Given the description of an element on the screen output the (x, y) to click on. 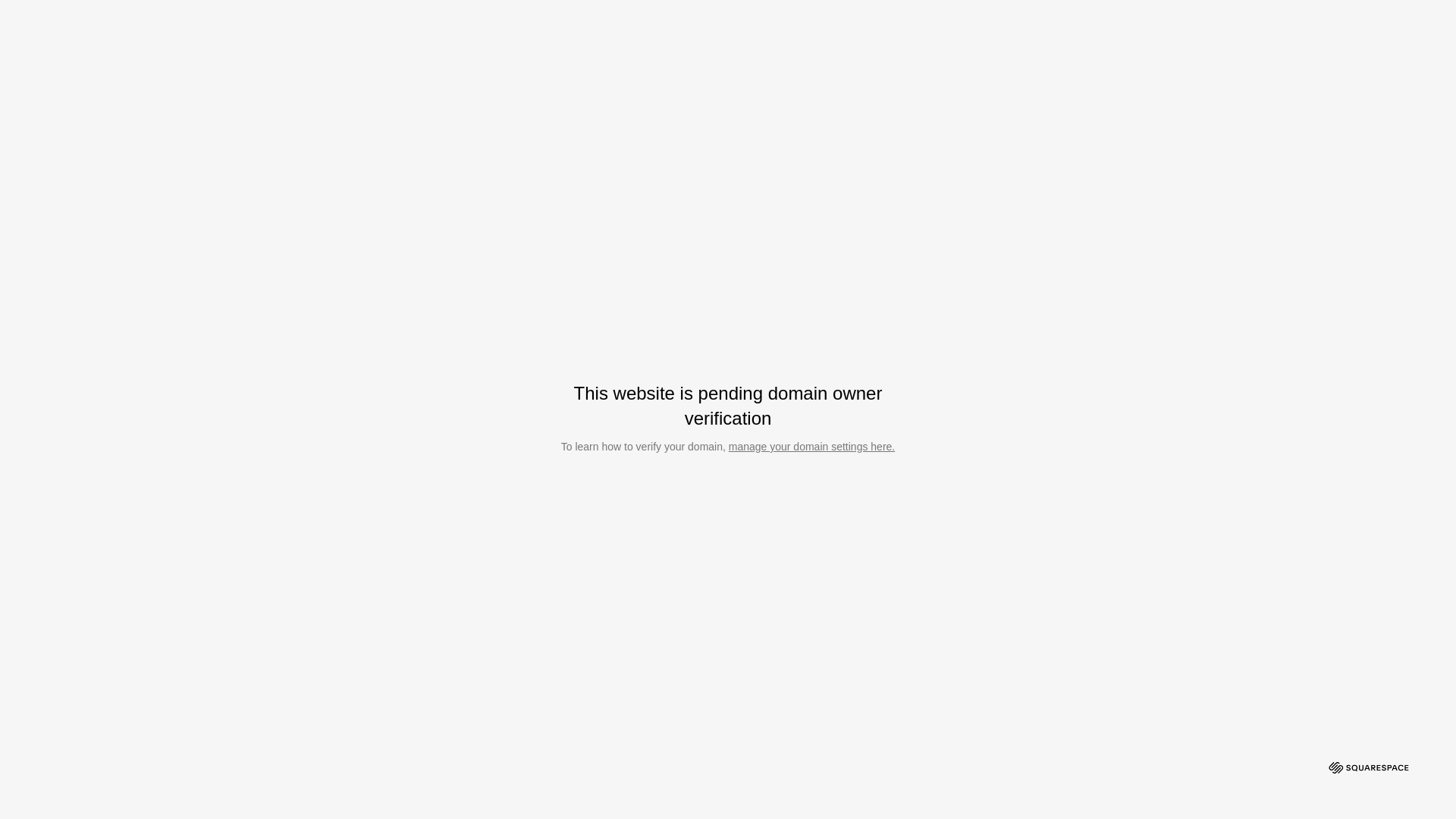
manage your domain settings here. Element type: text (811, 446)
